Given the description of an element on the screen output the (x, y) to click on. 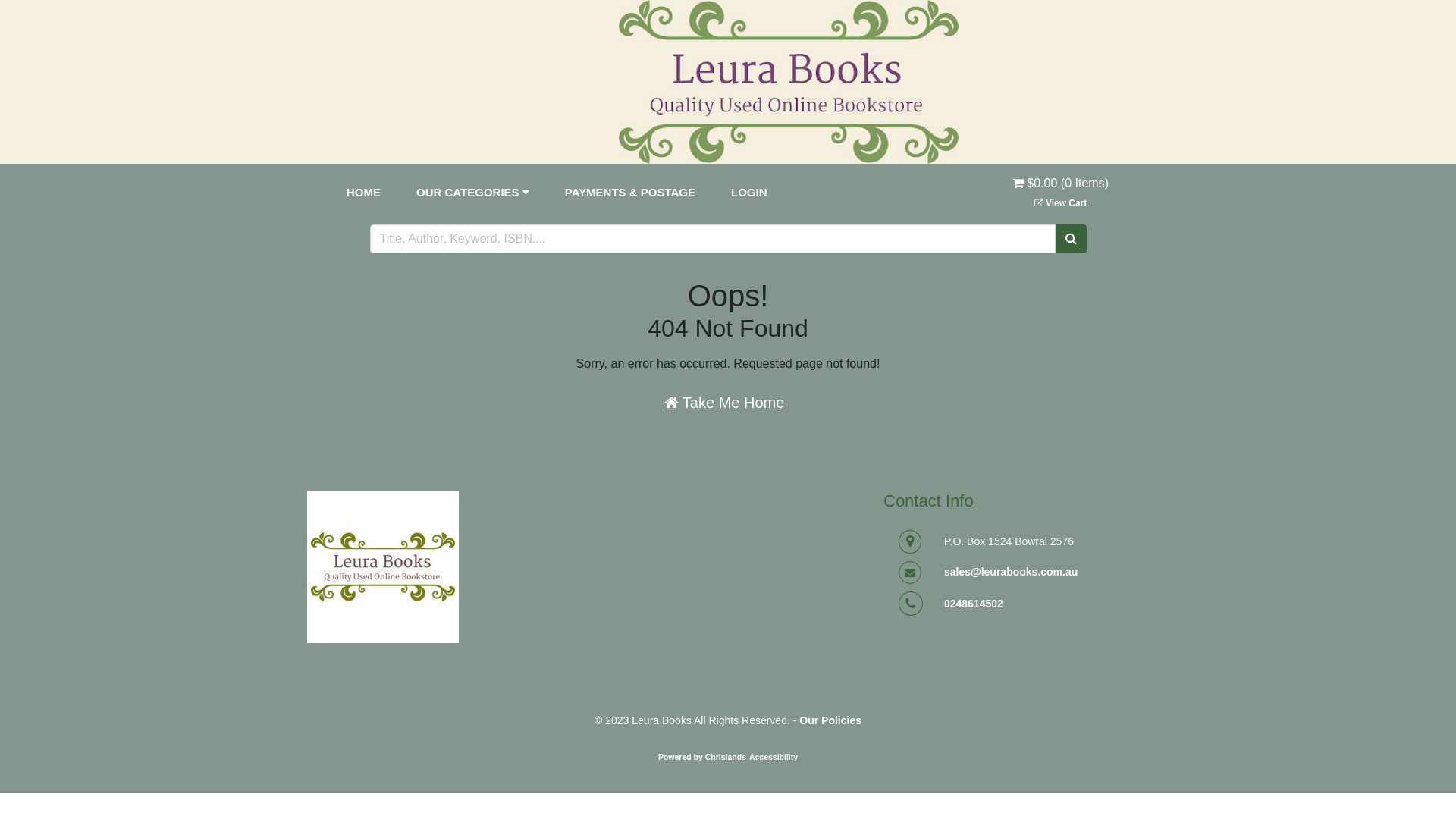
Powered by Chrislands Element type: text (702, 756)
 View Cart Element type: text (1060, 202)
sales@leurabooks.com.au Element type: text (1010, 571)
$0.00 (0 Items) Element type: text (1060, 191)
LOGIN Element type: text (748, 191)
Take Me Home Element type: text (724, 402)
PAYMENTS & POSTAGE Element type: text (629, 191)
Accessibility Element type: text (773, 756)
0248614502 Element type: text (973, 603)
Our Policies Element type: text (830, 720)
OUR CATEGORIES  Element type: text (472, 191)
HOME
(CURRENT) Element type: text (363, 191)
